Given the description of an element on the screen output the (x, y) to click on. 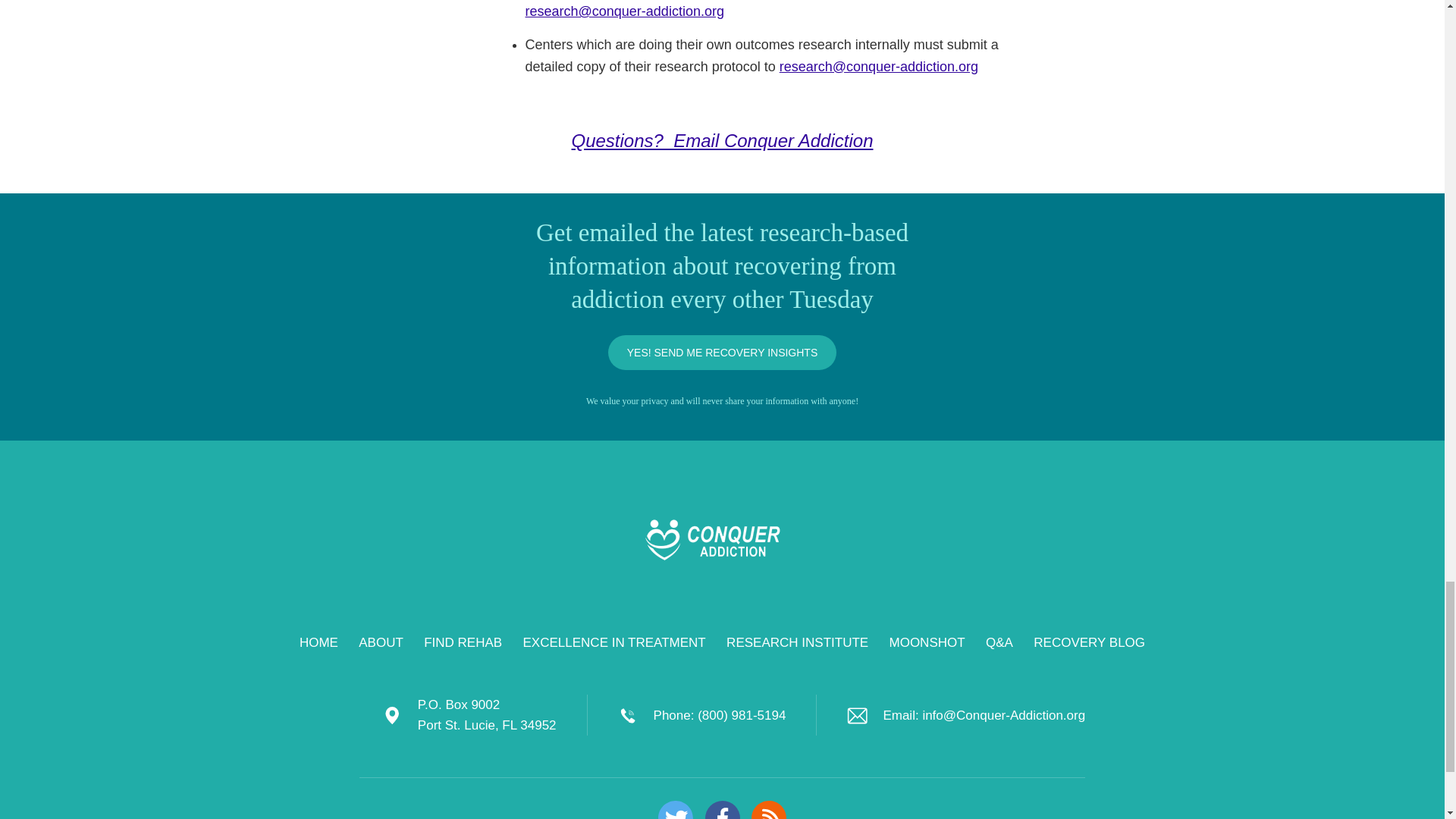
Twitter (675, 809)
MOONSHOT (927, 642)
RECOVERY BLOG (1088, 642)
Blog (768, 809)
LinkedIn (721, 809)
Blog (768, 809)
HOME (318, 642)
Twitter (675, 809)
EXCELLENCE IN TREATMENT (614, 642)
YES! SEND ME RECOVERY INSIGHTS (722, 352)
Facebook (721, 809)
FIND REHAB (462, 642)
ABOUT (380, 642)
RESEARCH INSTITUTE (796, 642)
Questions?  Email Conquer Addiction (722, 140)
